Given the description of an element on the screen output the (x, y) to click on. 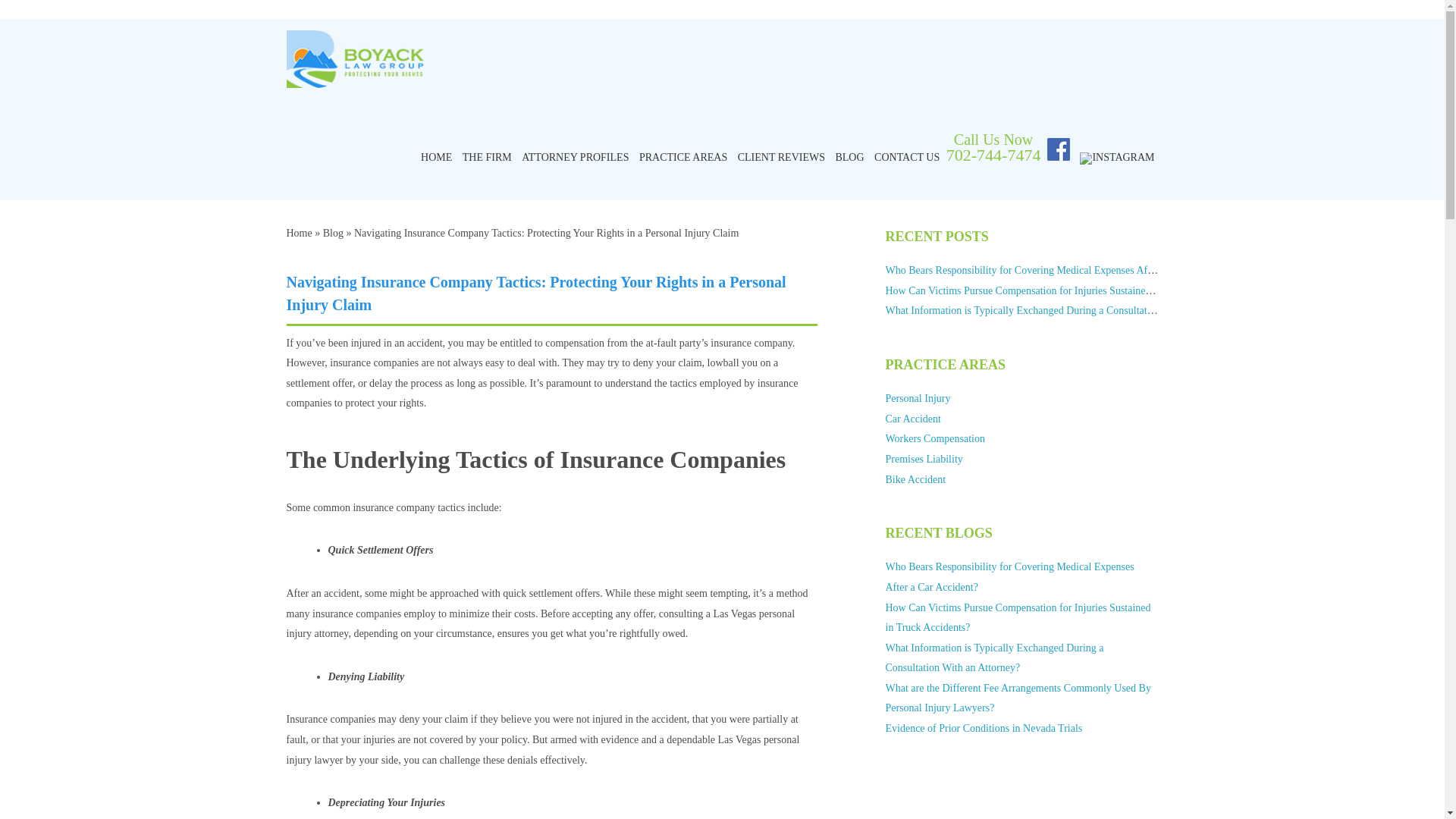
Top 10 Best Personal Injury Attorney Las Vegas (354, 81)
702-744-7474 (993, 155)
Blog (333, 233)
PRACTICE AREAS (682, 158)
facebook (1058, 149)
Evidence of Prior Conditions in Nevada Trials (984, 727)
CLIENT REVIEWS (780, 158)
Call Us Now (993, 139)
CONTACT US (906, 158)
